Given the description of an element on the screen output the (x, y) to click on. 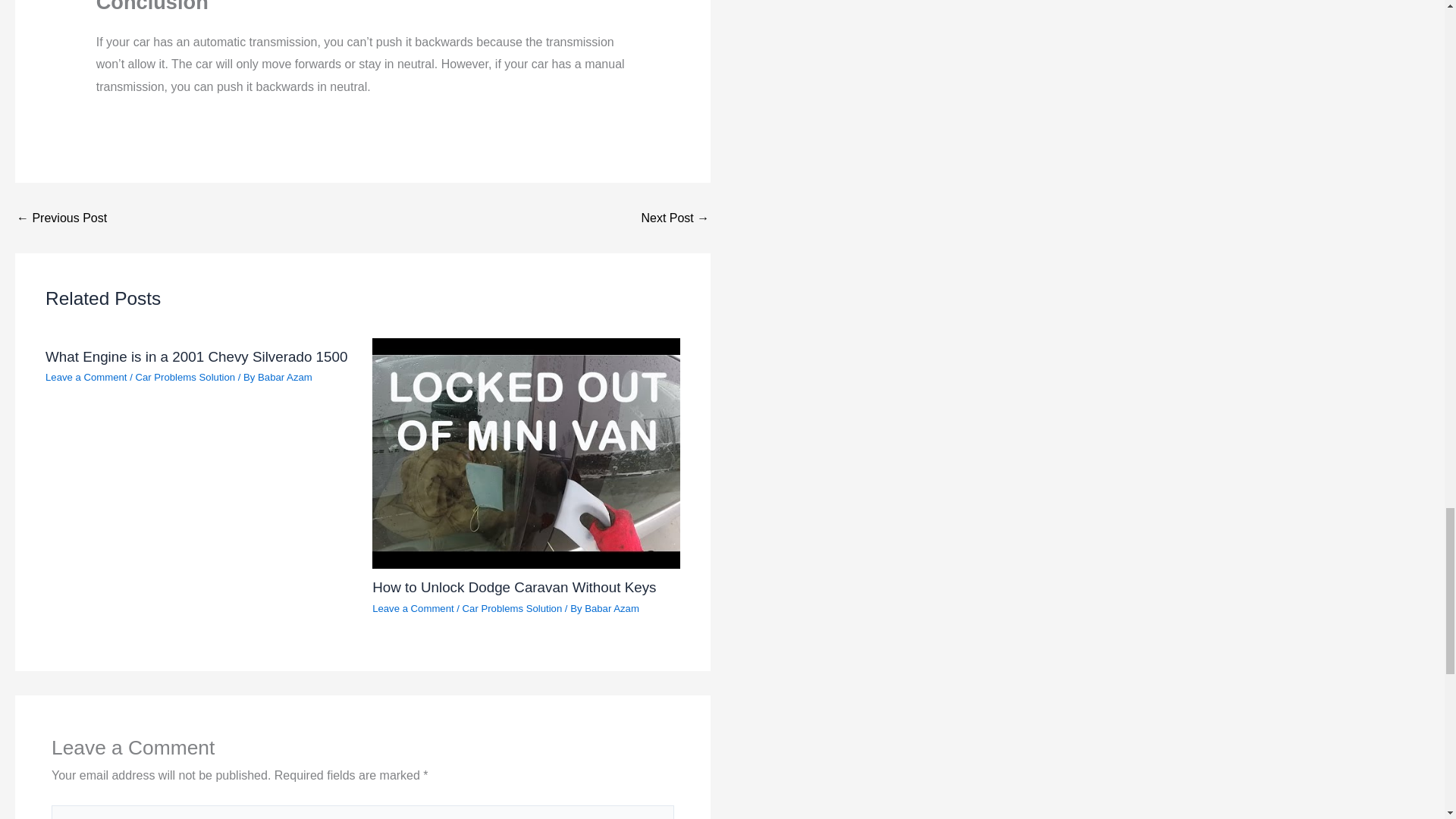
Babar Azam (612, 608)
Babar Azam (285, 377)
Leave a Comment (413, 608)
Leave a Comment (86, 377)
Car Problems Solution (184, 377)
How to Unlock Dodge Caravan Without Keys (514, 587)
What Engine is in a 2001 Chevy Silverado 1500 (196, 356)
Car Problems Solution (512, 608)
